Given the description of an element on the screen output the (x, y) to click on. 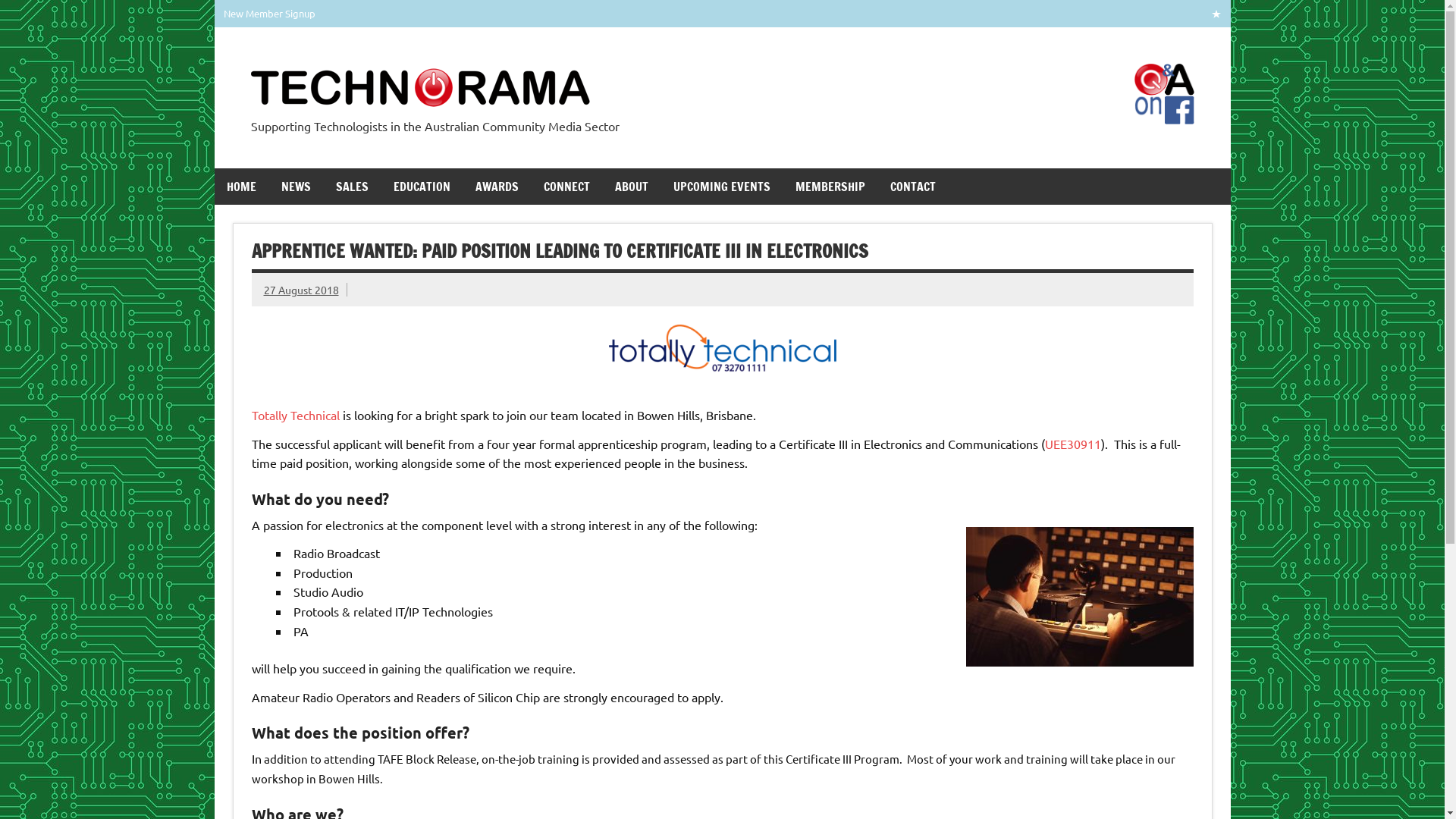
UPCOMING EVENTS Element type: text (721, 186)
AWARDS Element type: text (496, 186)
EDUCATION Element type: text (420, 186)
NEWS Element type: text (295, 186)
HOME Element type: text (240, 186)
MEMBERSHIP Element type: text (829, 186)
ABOUT Element type: text (630, 186)
UEE30911 Element type: text (1072, 442)
SALES Element type: text (351, 186)
New Member Signup Element type: text (269, 13)
CONTACT Element type: text (912, 186)
CONNECT Element type: text (565, 186)
Totally Technical Element type: text (295, 414)
Technorama Element type: text (685, 78)
27 August 2018 Element type: text (300, 289)
